Given the description of an element on the screen output the (x, y) to click on. 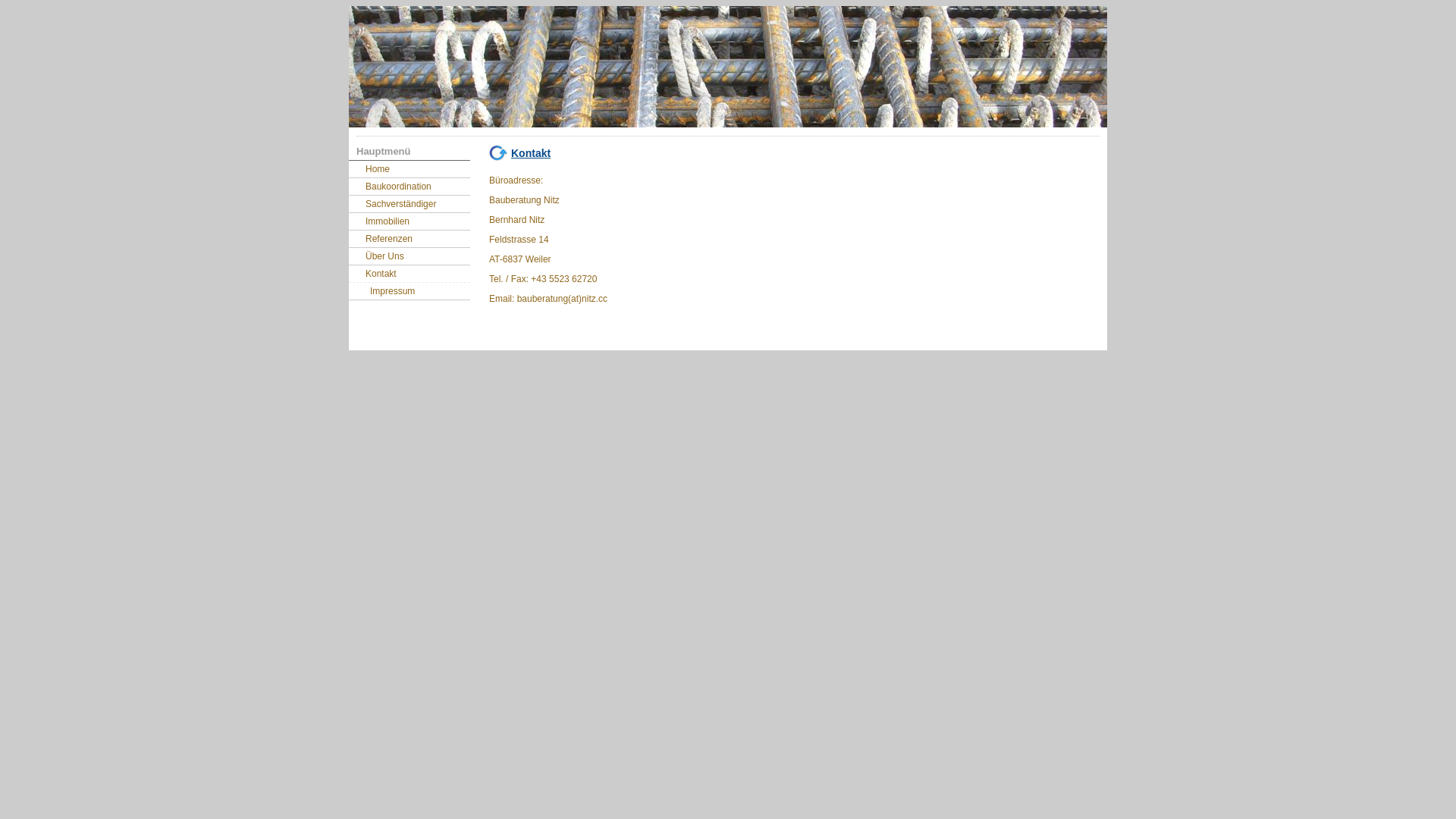
Baukoordination Element type: text (409, 186)
Home Element type: text (409, 168)
Referenzen Element type: text (409, 238)
Immobilien Element type: text (409, 221)
Impressum Element type: text (409, 290)
Kontakt Element type: text (409, 273)
